Given the description of an element on the screen output the (x, y) to click on. 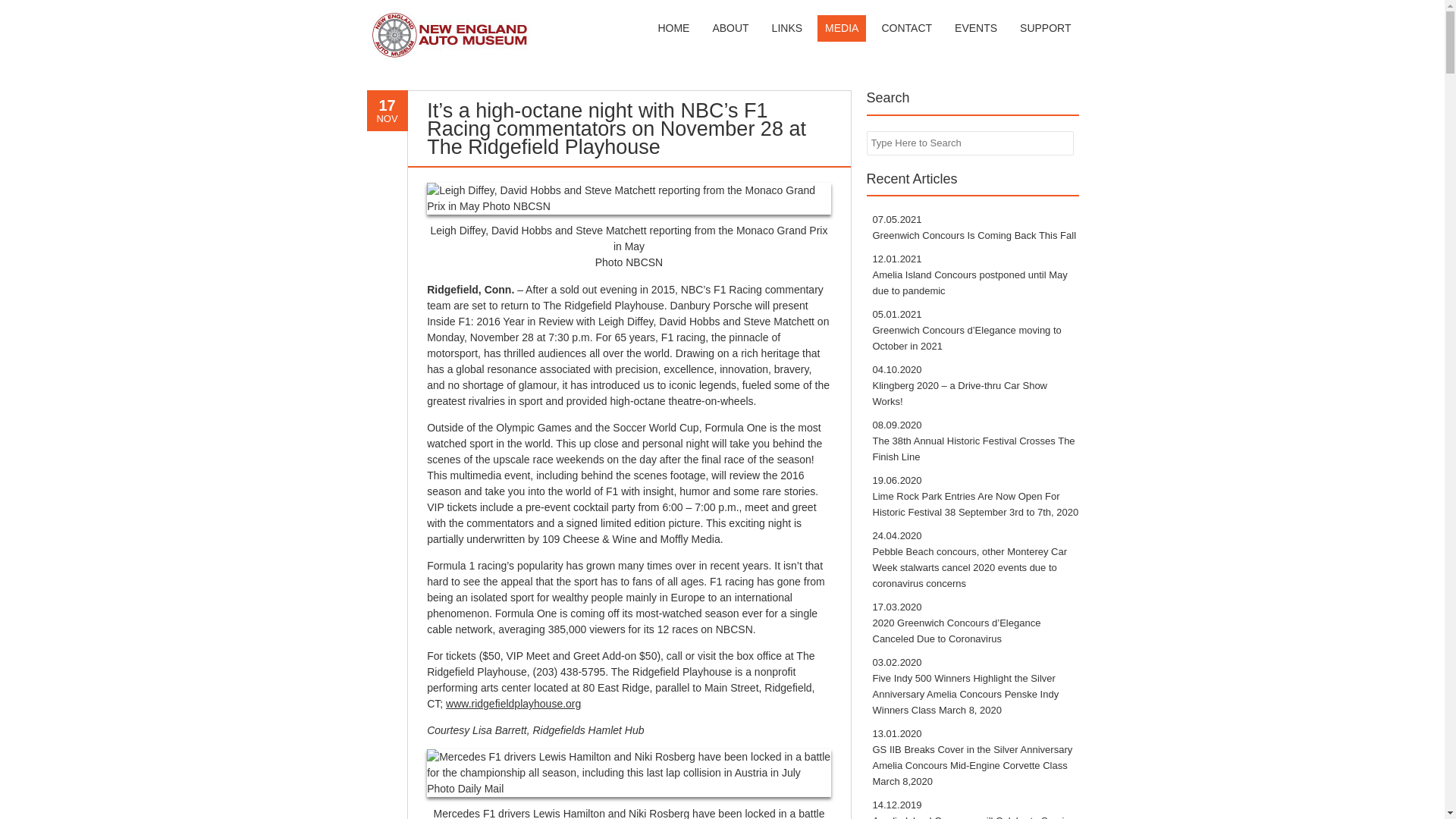
EVENTS (975, 28)
